Given the description of an element on the screen output the (x, y) to click on. 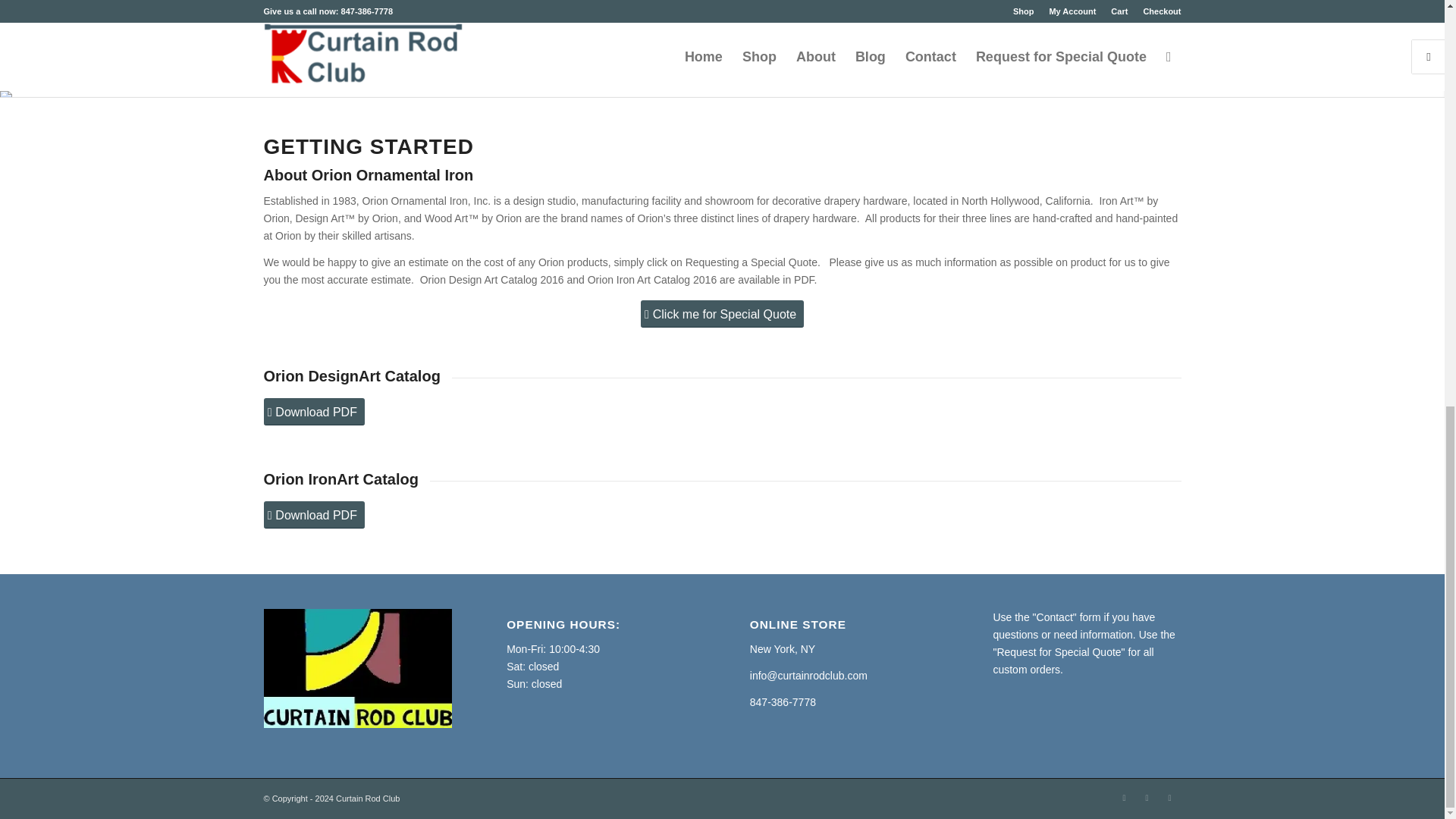
Facebook (1124, 797)
Twitter (1169, 797)
Instagram (1146, 797)
